Given the description of an element on the screen output the (x, y) to click on. 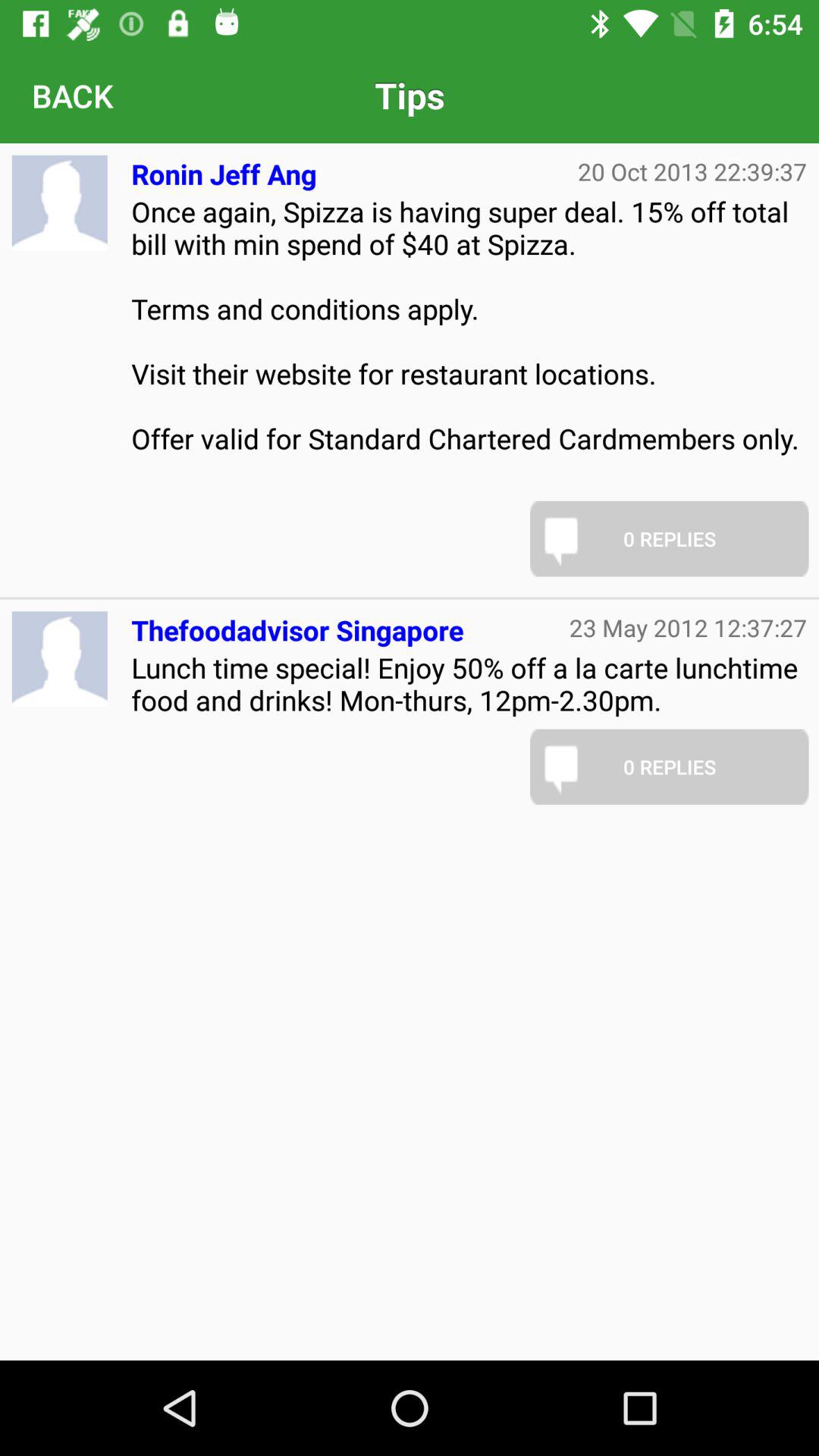
launch the item below thefoodadvisor singapore (469, 683)
